Given the description of an element on the screen output the (x, y) to click on. 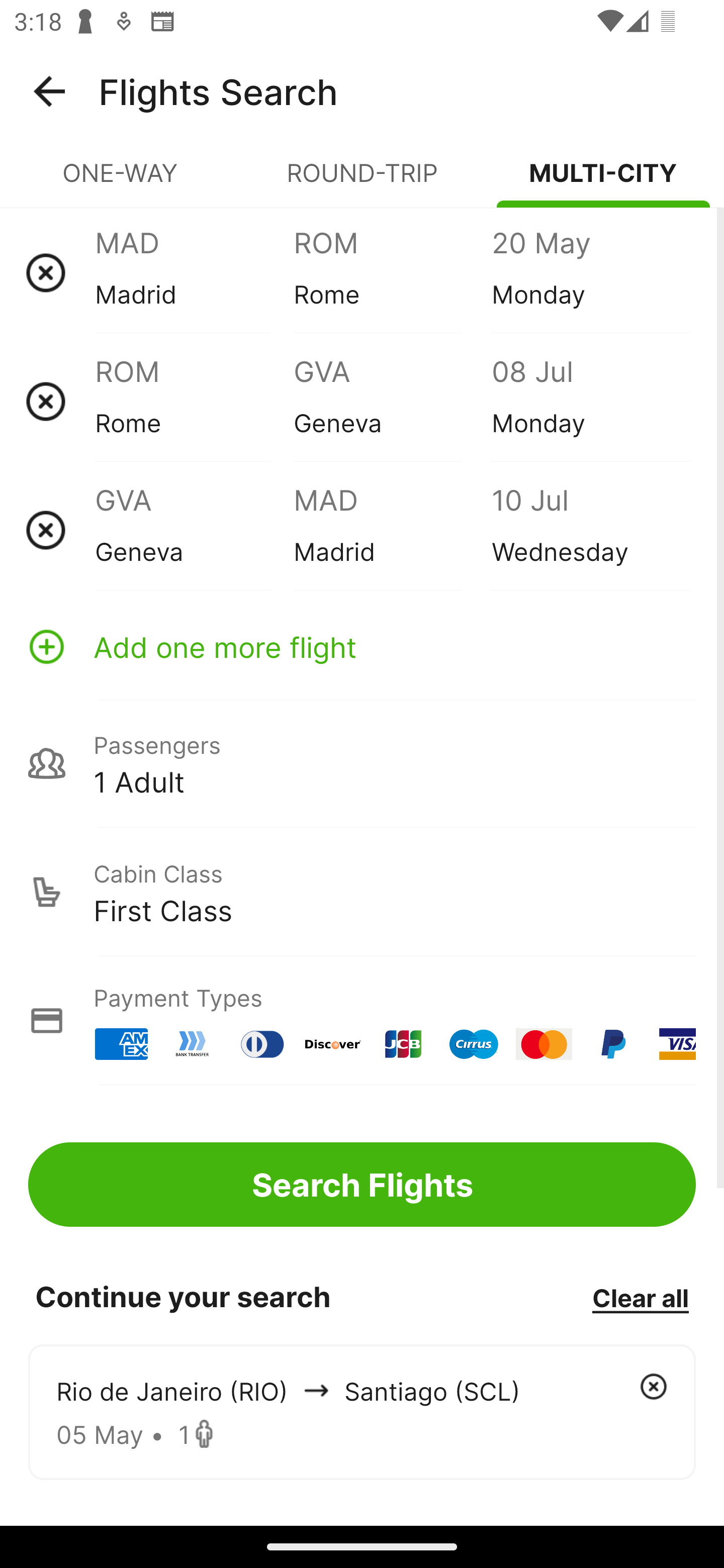
ONE-WAY (120, 180)
ROUND-TRIP (361, 180)
MULTI-CITY (603, 180)
MAD Madrid (193, 272)
ROM Rome (392, 272)
20 May Monday (590, 272)
ROM Rome (193, 401)
GVA Geneva (392, 401)
08 Jul Monday (590, 401)
GVA Geneva (193, 529)
MAD Madrid (392, 529)
10 Jul Wednesday (590, 529)
Add one more flight (362, 646)
Passengers 1 Adult (362, 762)
Cabin Class First Class (362, 891)
Payment Types (362, 1020)
Search Flights (361, 1184)
Clear all (640, 1297)
